Given the description of an element on the screen output the (x, y) to click on. 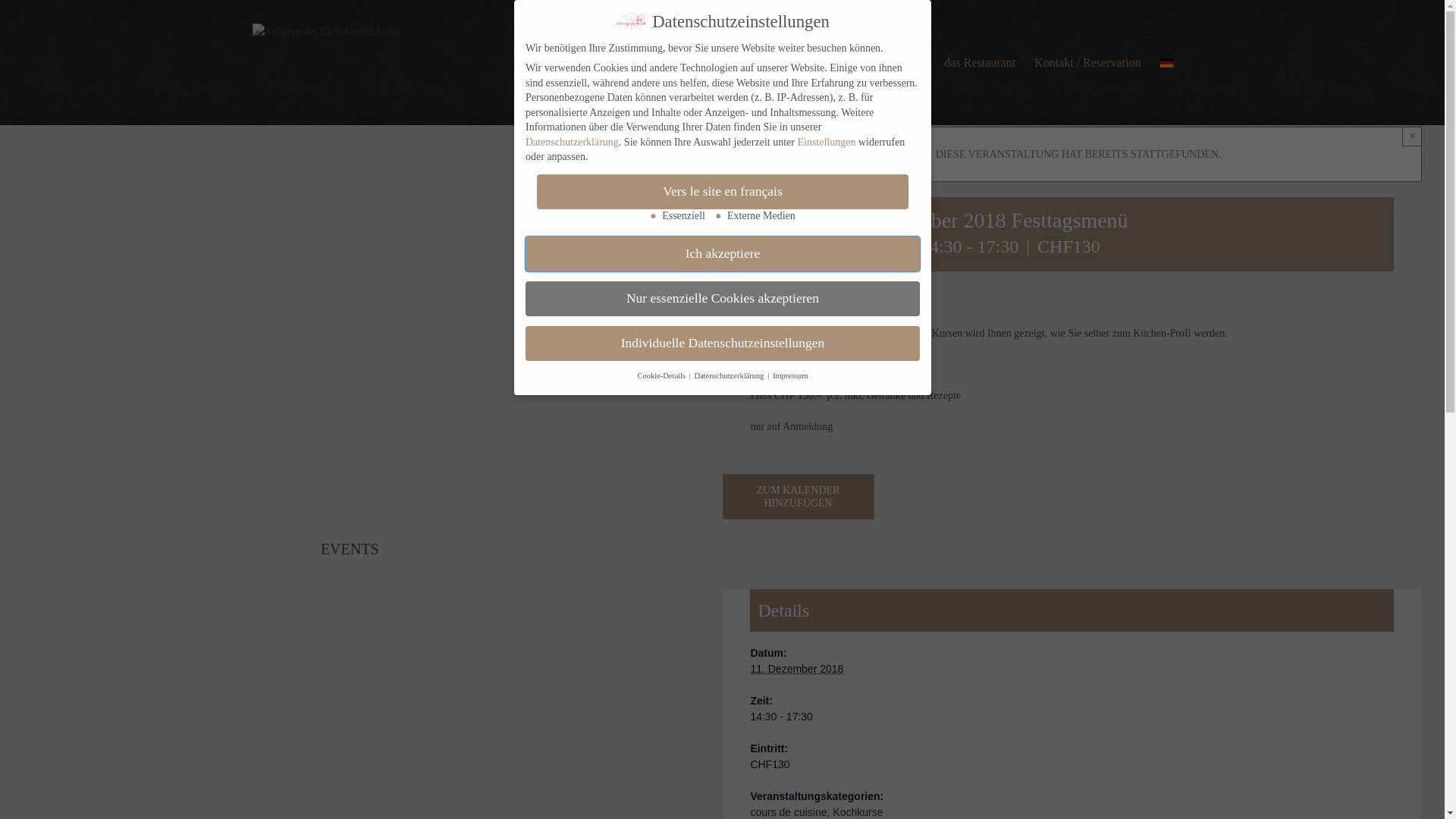
Cookie-Details Element type: text (662, 375)
cours de cuisine Element type: text (787, 812)
Nur essenzielle Cookies akzeptieren Element type: text (721, 298)
Home Element type: text (782, 62)
Kochkurse Element type: text (857, 812)
Individuelle Datenschutzeinstellungen Element type: text (721, 343)
Speisekarten Element type: text (894, 62)
Impressum Element type: text (789, 375)
Kontakt / Reservation Element type: text (1087, 62)
Ich akzeptiere Element type: text (721, 253)
News Element type: text (830, 62)
das Restaurant Element type: text (979, 62)
Einstellungen Element type: text (826, 141)
